Given the description of an element on the screen output the (x, y) to click on. 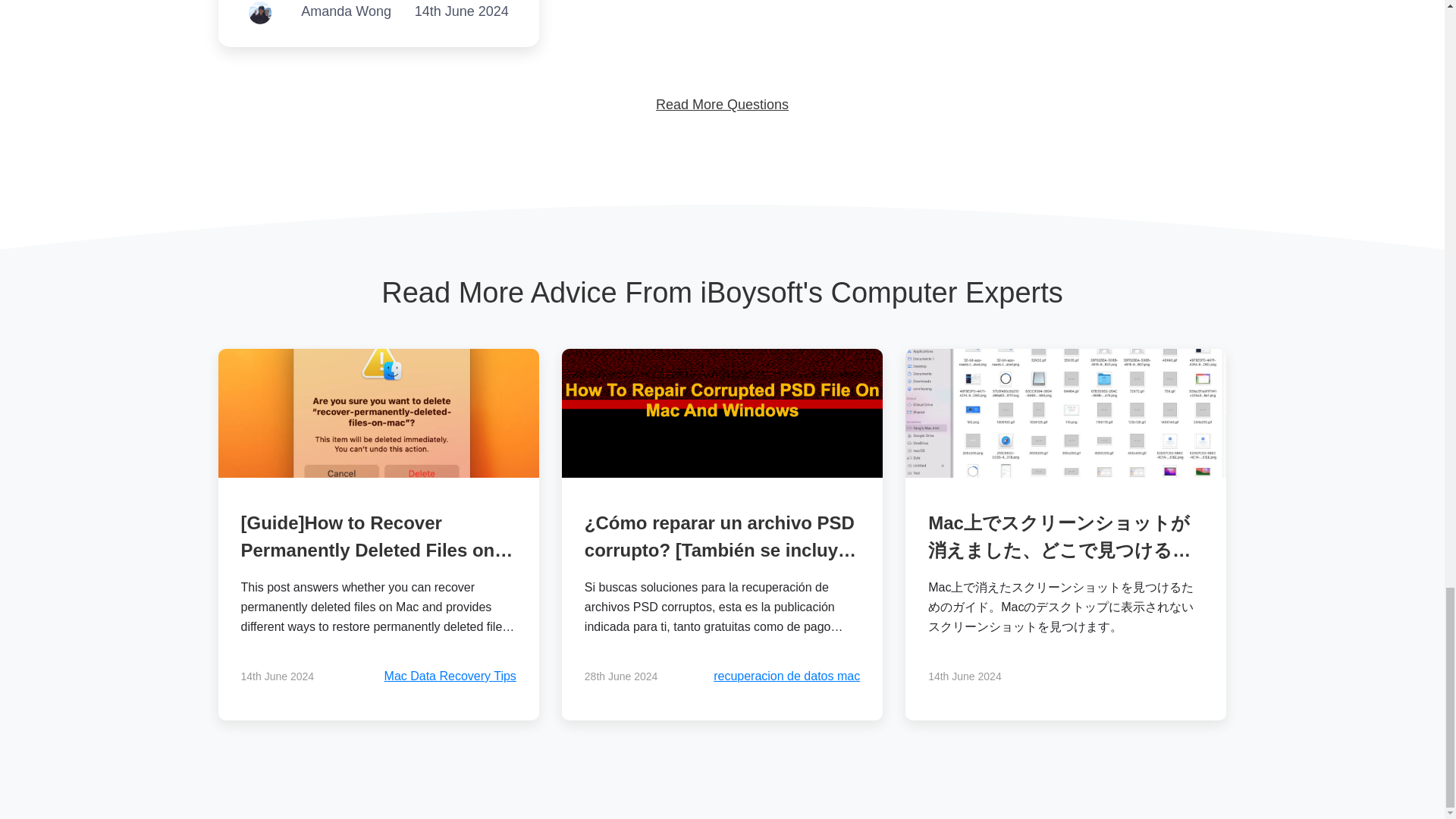
recuperacion de datos mac (786, 676)
Mac Data Recovery Tips (450, 676)
Amanda Wong (346, 12)
Read More Questions (722, 104)
